Given the description of an element on the screen output the (x, y) to click on. 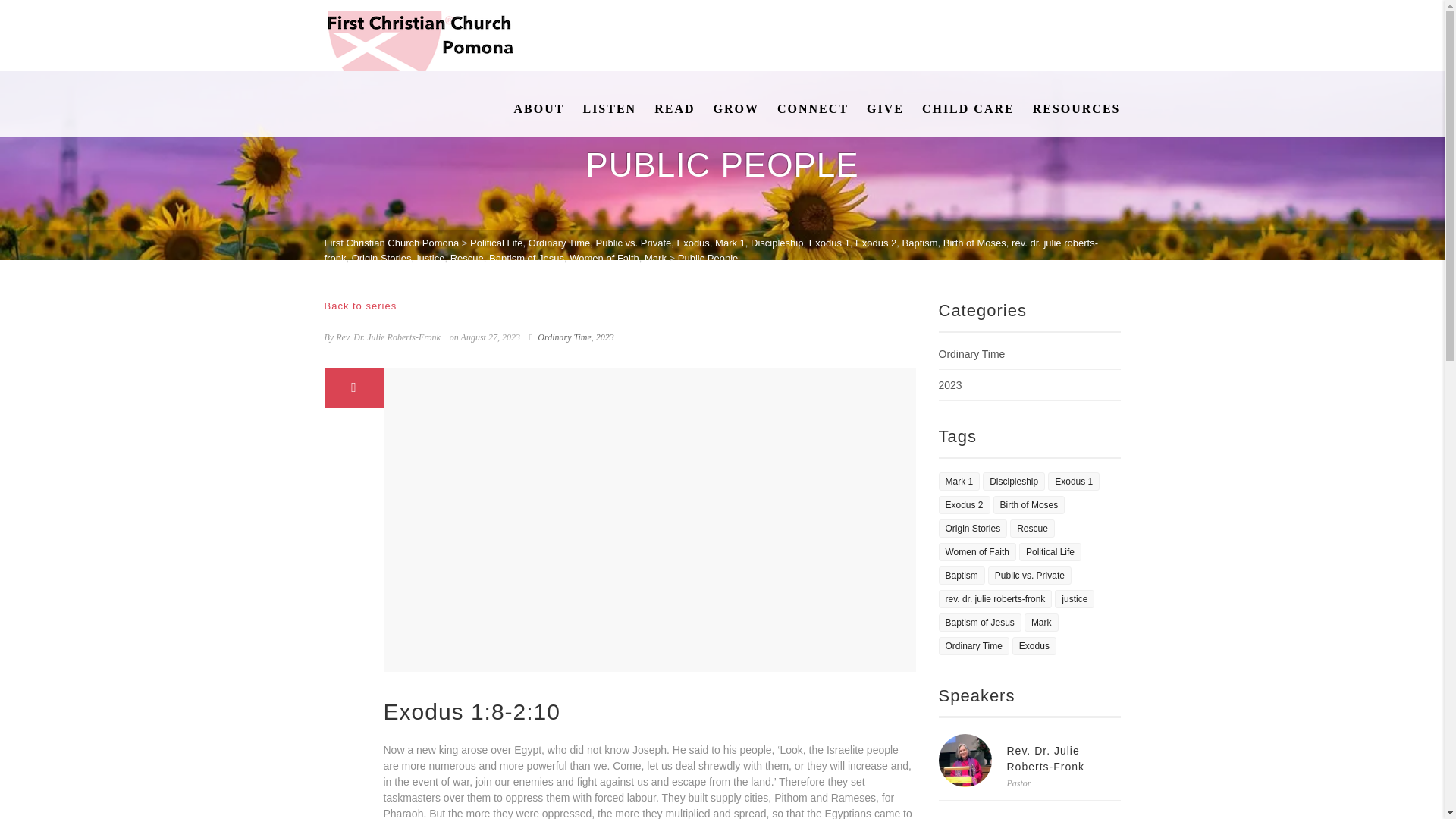
Go to the Public vs. Private Sermon Tags archives. (633, 242)
Go to the Discipleship Sermon Tags archives. (777, 242)
CONNECT (812, 108)
Go to the Exodus 1 Sermon Tags archives. (829, 242)
Go to First Christian Church Pomona. (392, 242)
Exodus 2 (876, 242)
Birth of Moses (974, 242)
LISTEN (609, 108)
Go to the rev. dr. julie roberts-fronk Sermon Tags archives. (711, 250)
justice (430, 256)
Origin Stories (382, 256)
rev. dr. julie roberts-fronk (711, 250)
First Christian Church Pomona (392, 242)
Go to the Exodus Sermon Tags archives. (693, 242)
Go to the Political Life Sermon Tags archives. (496, 242)
